Given the description of an element on the screen output the (x, y) to click on. 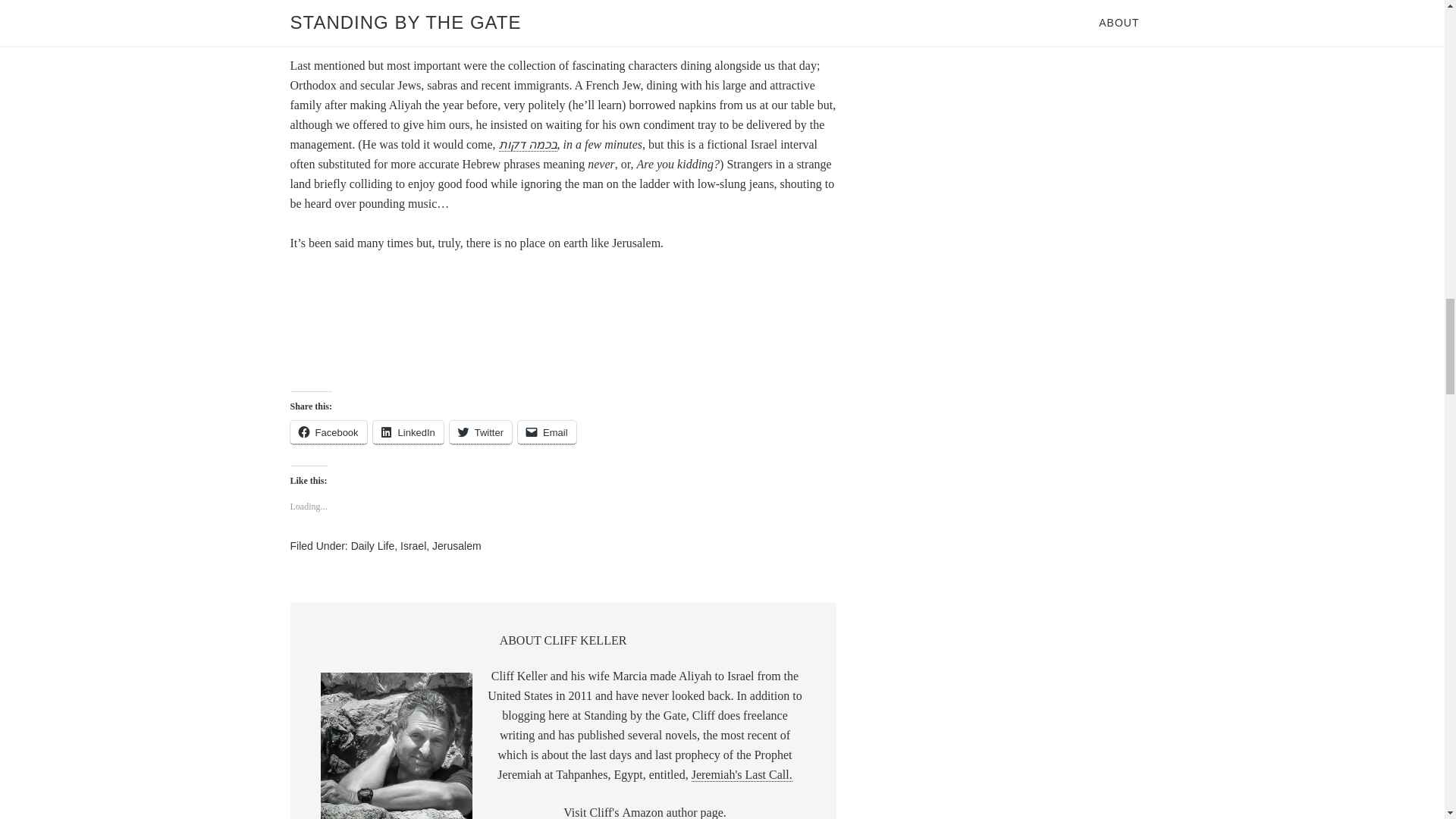
Click to email a link to a friend (547, 432)
Facebook (327, 432)
Jerusalem (456, 545)
Twitter (480, 432)
Israel (413, 545)
Jeremiah's Last Call. (741, 775)
Click to share on Facebook (327, 432)
Amazon author page (671, 812)
Click to share on Twitter (480, 432)
Daily Life (372, 545)
